Given the description of an element on the screen output the (x, y) to click on. 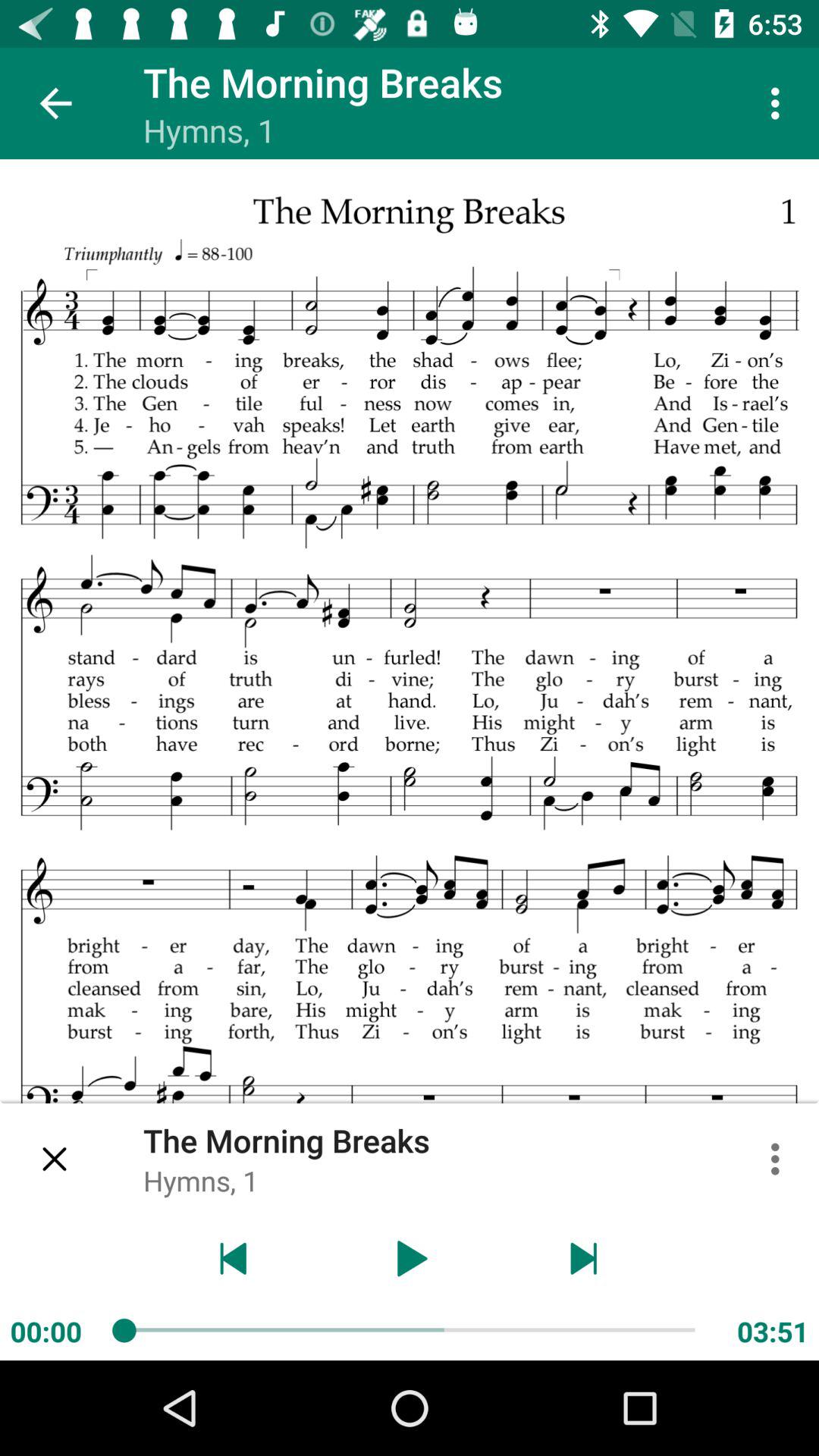
click the item to the left of the the morning breaks item (55, 1158)
